Given the description of an element on the screen output the (x, y) to click on. 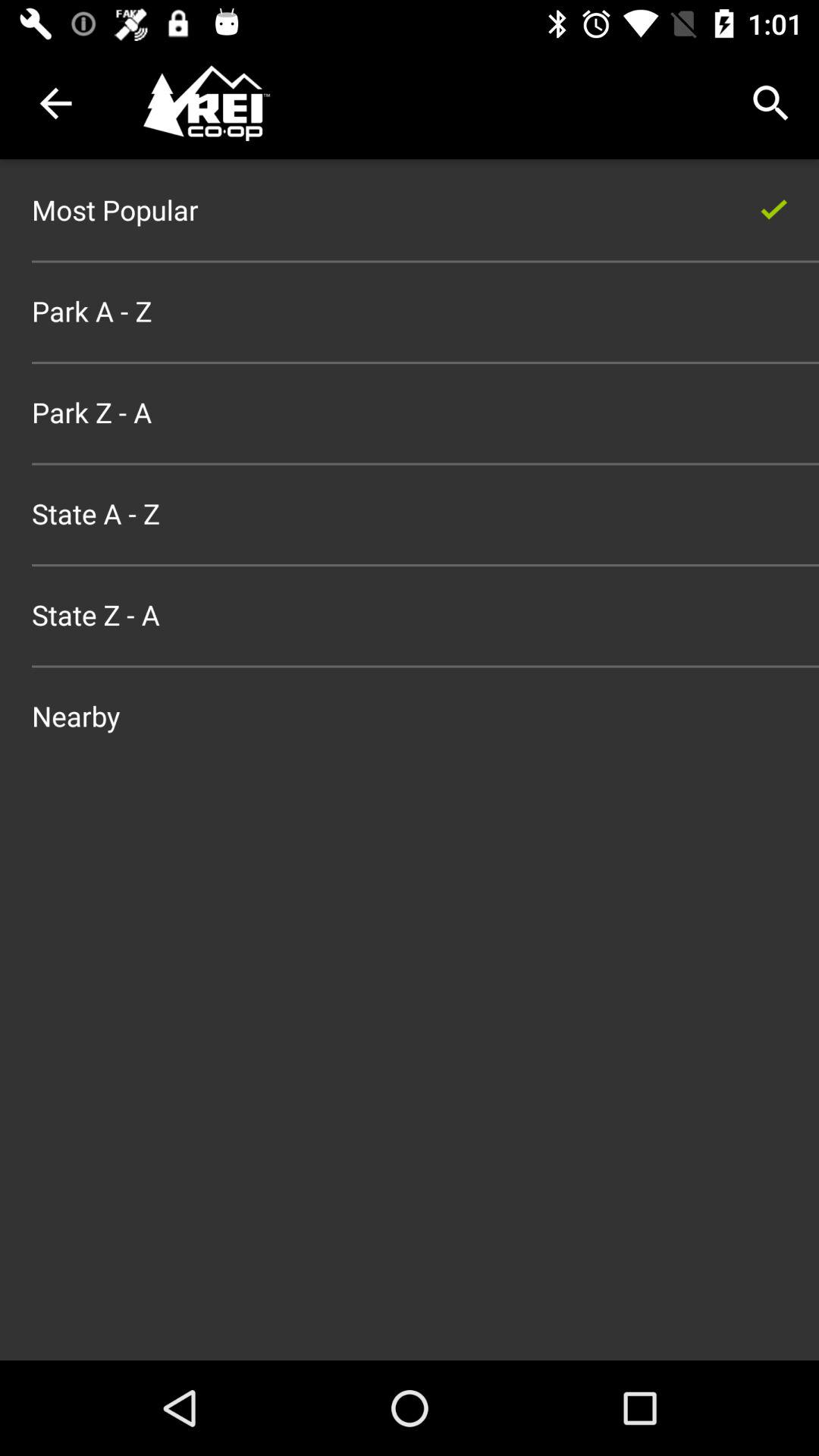
press the item above most popular (55, 103)
